Given the description of an element on the screen output the (x, y) to click on. 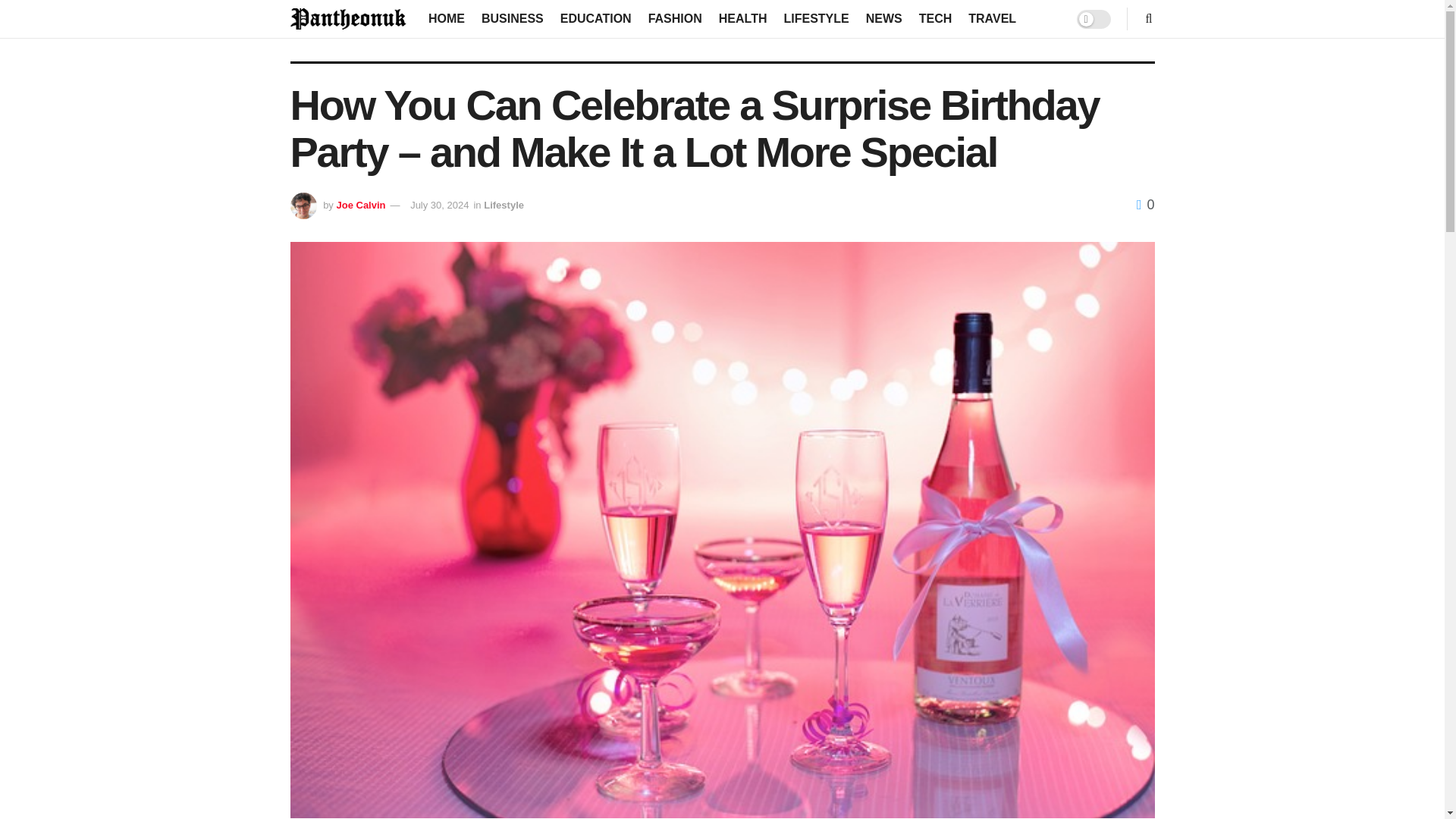
0 (1145, 204)
NEWS (884, 18)
EDUCATION (595, 18)
Lifestyle (503, 204)
HEALTH (743, 18)
FASHION (674, 18)
July 30, 2024 (439, 204)
BUSINESS (512, 18)
Joe Calvin (360, 204)
TRAVEL (992, 18)
